Given the description of an element on the screen output the (x, y) to click on. 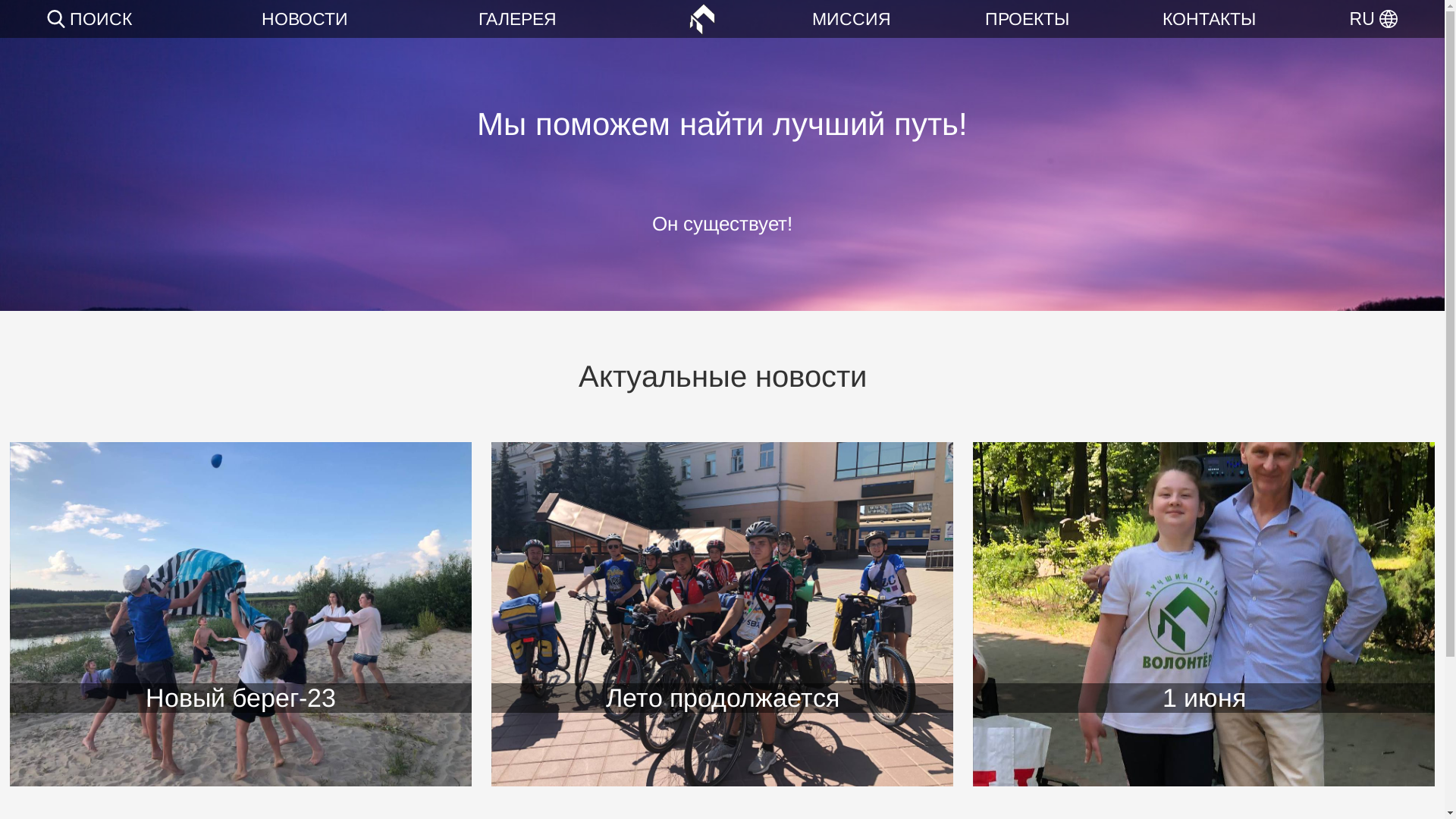
RU Element type: text (1373, 17)
0 Element type: text (18, 18)
